Given the description of an element on the screen output the (x, y) to click on. 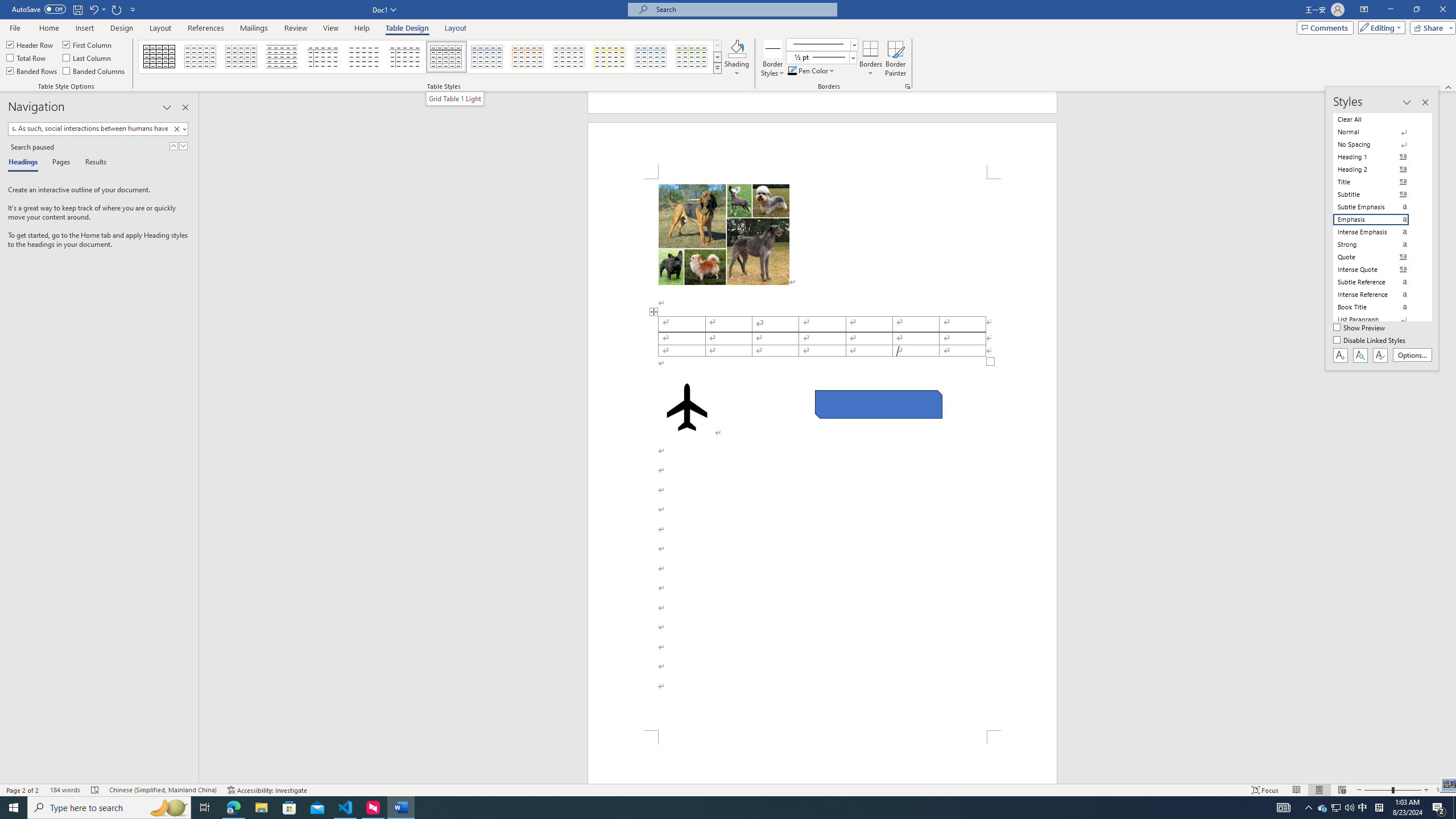
Plain Table 3 (322, 56)
Grid Table 1 Light - Accent 4 (609, 56)
Grid Table 1 Light - Accent 1 (487, 56)
Class: NetUIButton (1380, 355)
Subtle Reference (1377, 282)
Pen Style (821, 44)
Book Title (1377, 306)
Page 2 content (822, 454)
Pen Color (811, 69)
